Given the description of an element on the screen output the (x, y) to click on. 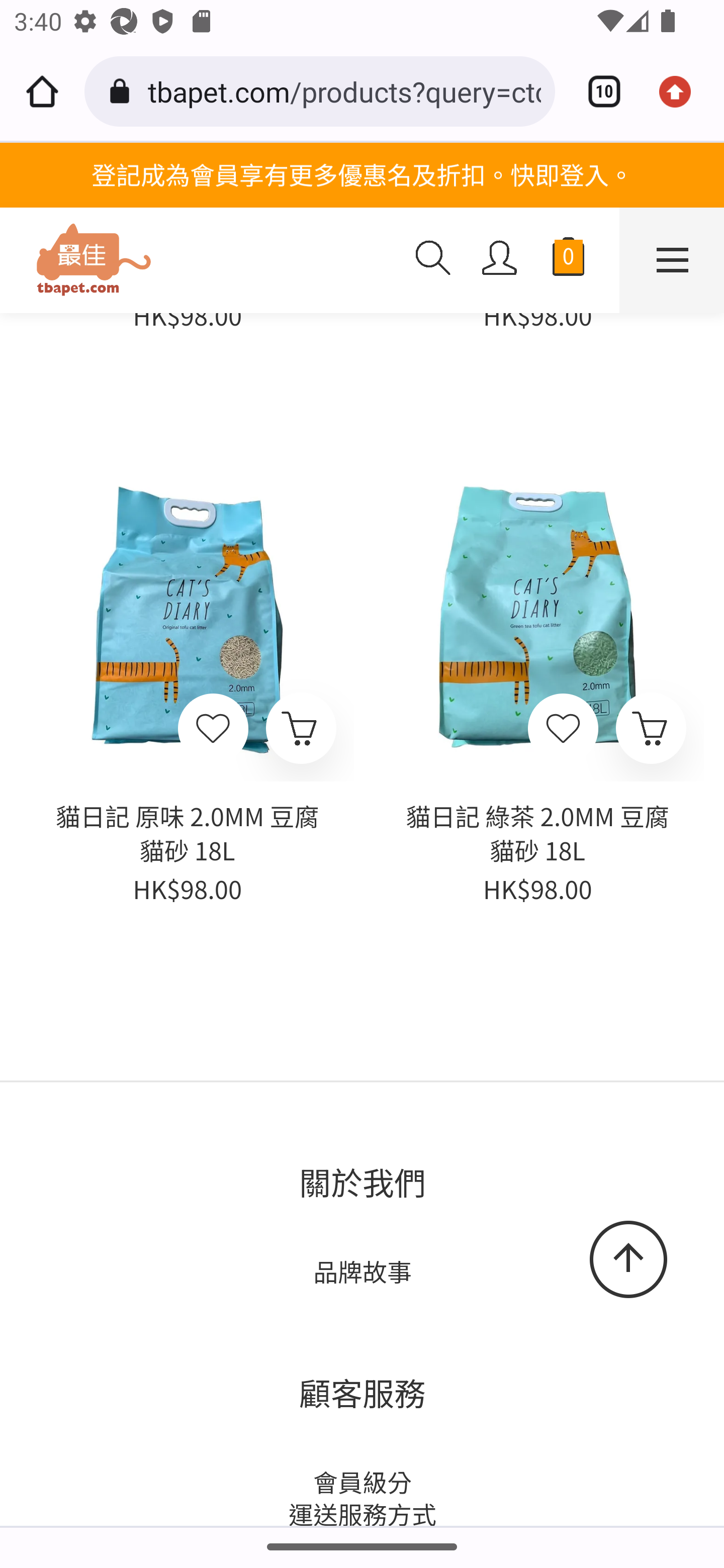
Home (42, 91)
Connection is secure (122, 91)
Switch or close tabs (597, 91)
Update available. More options (681, 91)
sign_in (499, 258)
0 (567, 261)
 (212, 729)
 (562, 729)
品牌故事 (362, 1272)
會員級分 (362, 1483)
運送服務方式 (362, 1511)
